Given the description of an element on the screen output the (x, y) to click on. 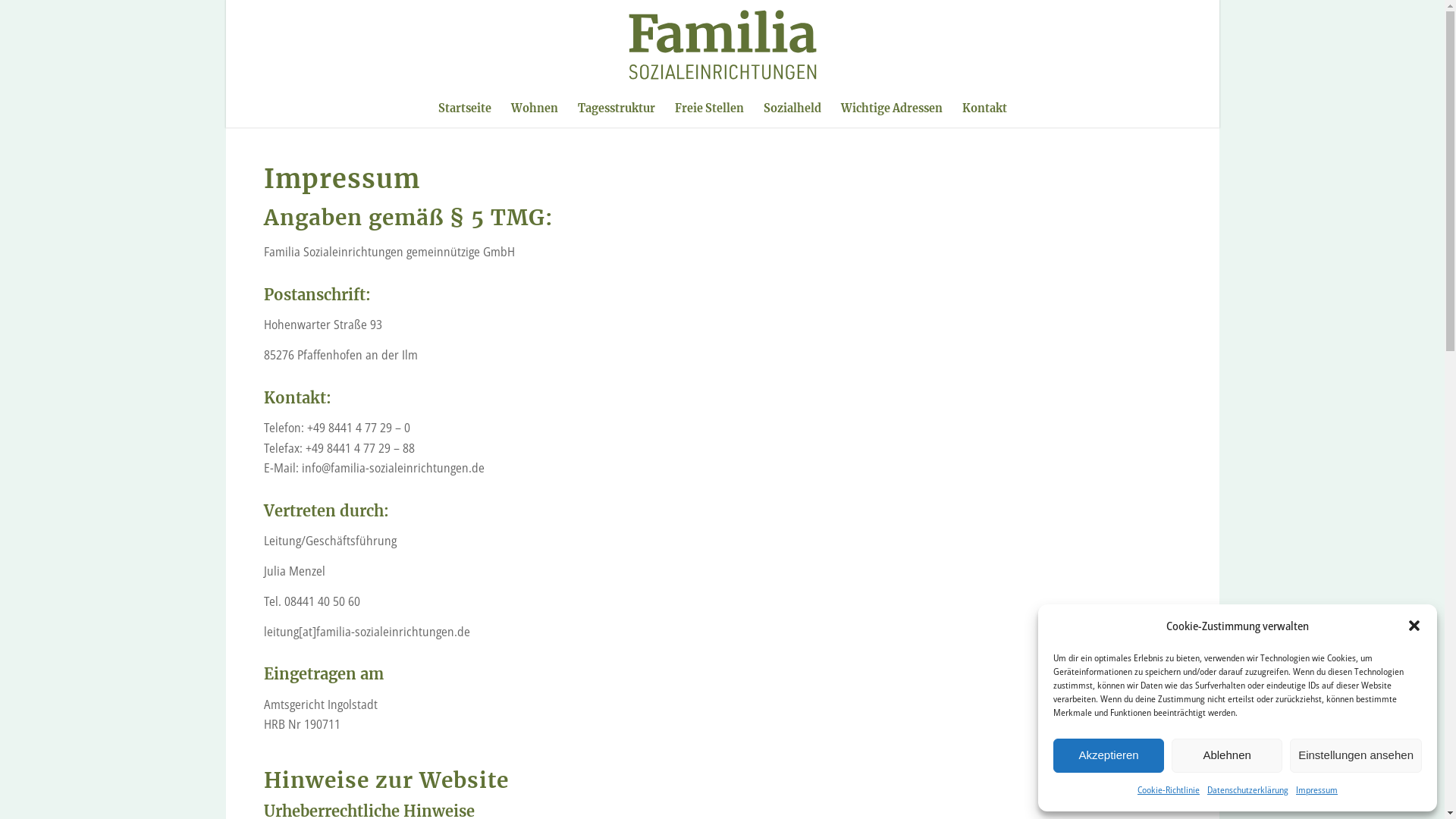
Einstellungen ansehen Element type: text (1355, 755)
Startseite Element type: text (463, 108)
Wichtige Adressen Element type: text (891, 108)
Akzeptieren Element type: text (1108, 755)
Kontakt Element type: text (984, 108)
Impressum Element type: text (1316, 790)
Tagesstruktur Element type: text (615, 108)
Logo_POS (2) Element type: hover (721, 44)
Sozialheld Element type: text (792, 108)
Freie Stellen Element type: text (708, 108)
Cookie-Richtlinie Element type: text (1168, 790)
Ablehnen Element type: text (1226, 755)
Wohnen Element type: text (533, 108)
